Given the description of an element on the screen output the (x, y) to click on. 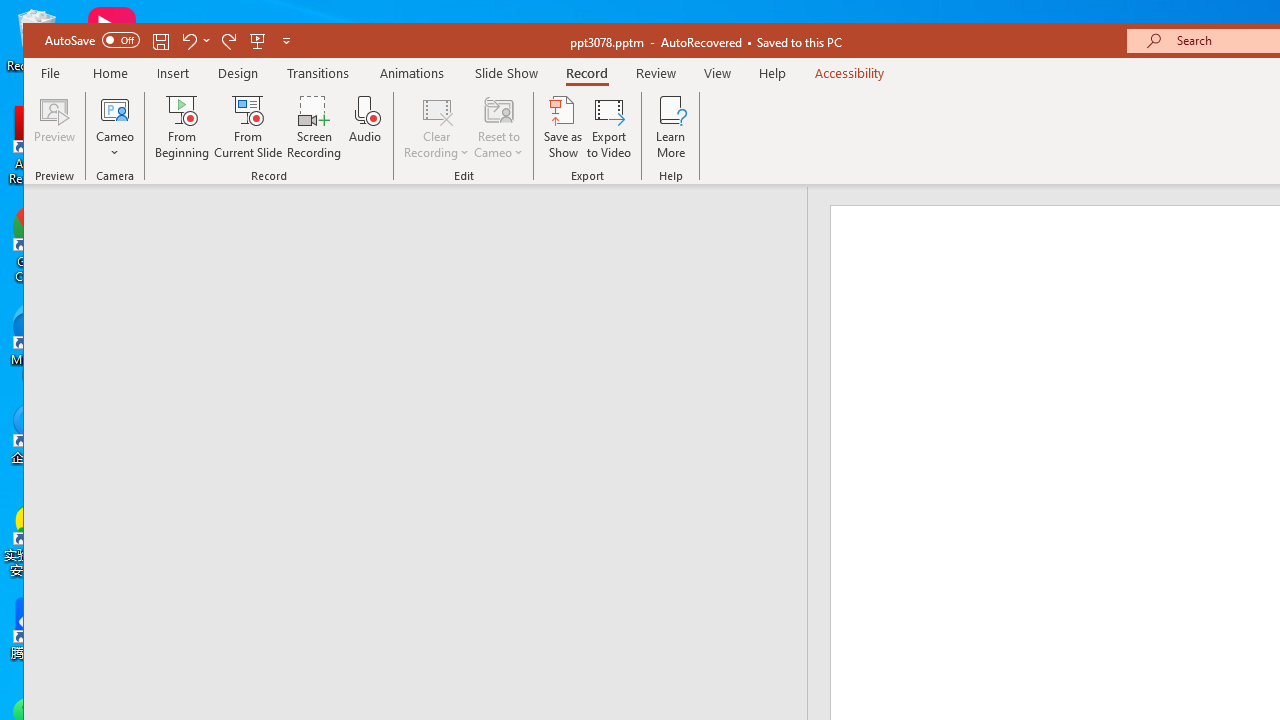
From Beginning... (182, 127)
Screen Recording (314, 127)
Audio (365, 127)
From Current Slide... (248, 127)
